Given the description of an element on the screen output the (x, y) to click on. 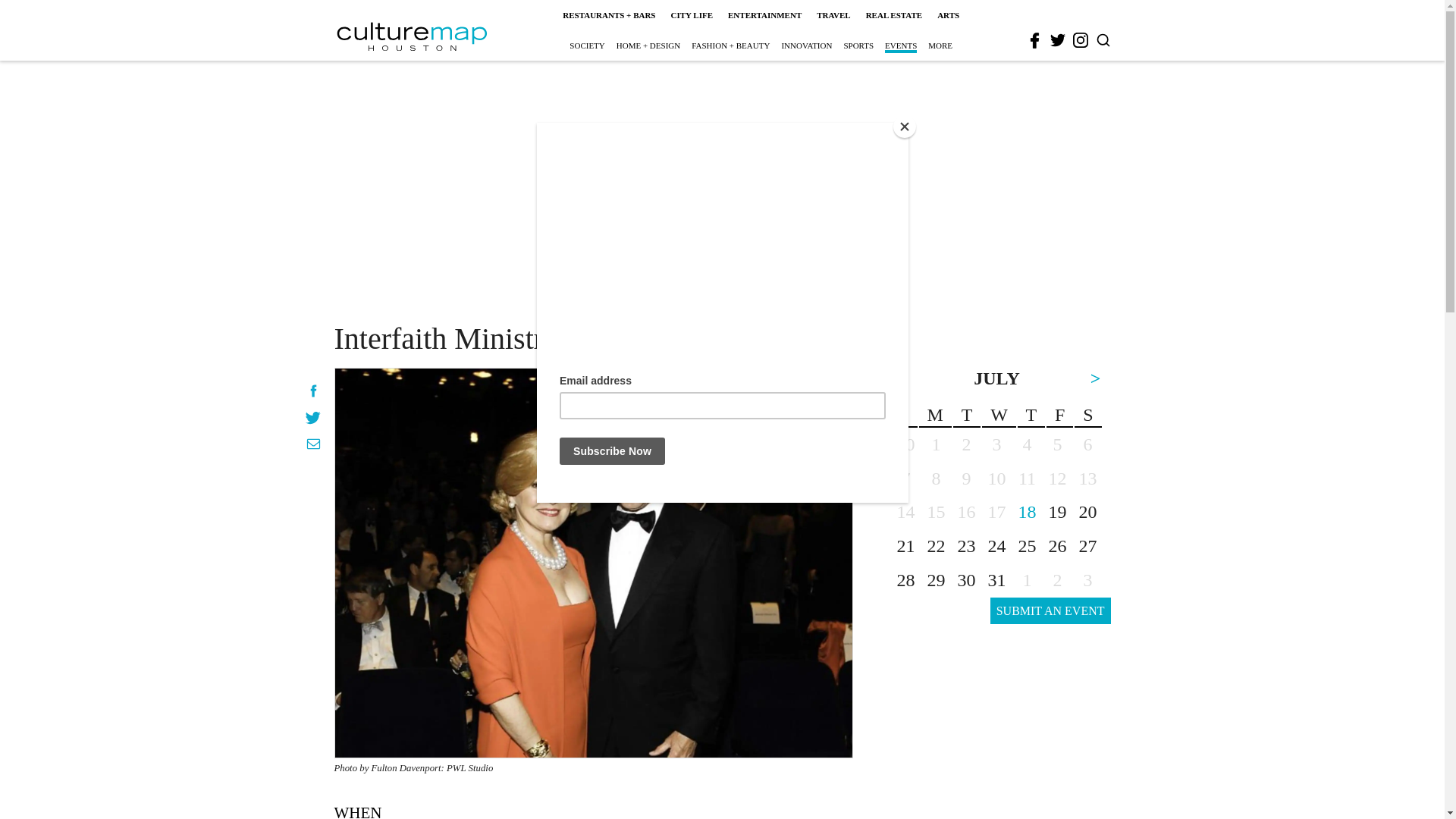
3rd party ad content (721, 202)
3rd party ad content (995, 748)
